Given the description of an element on the screen output the (x, y) to click on. 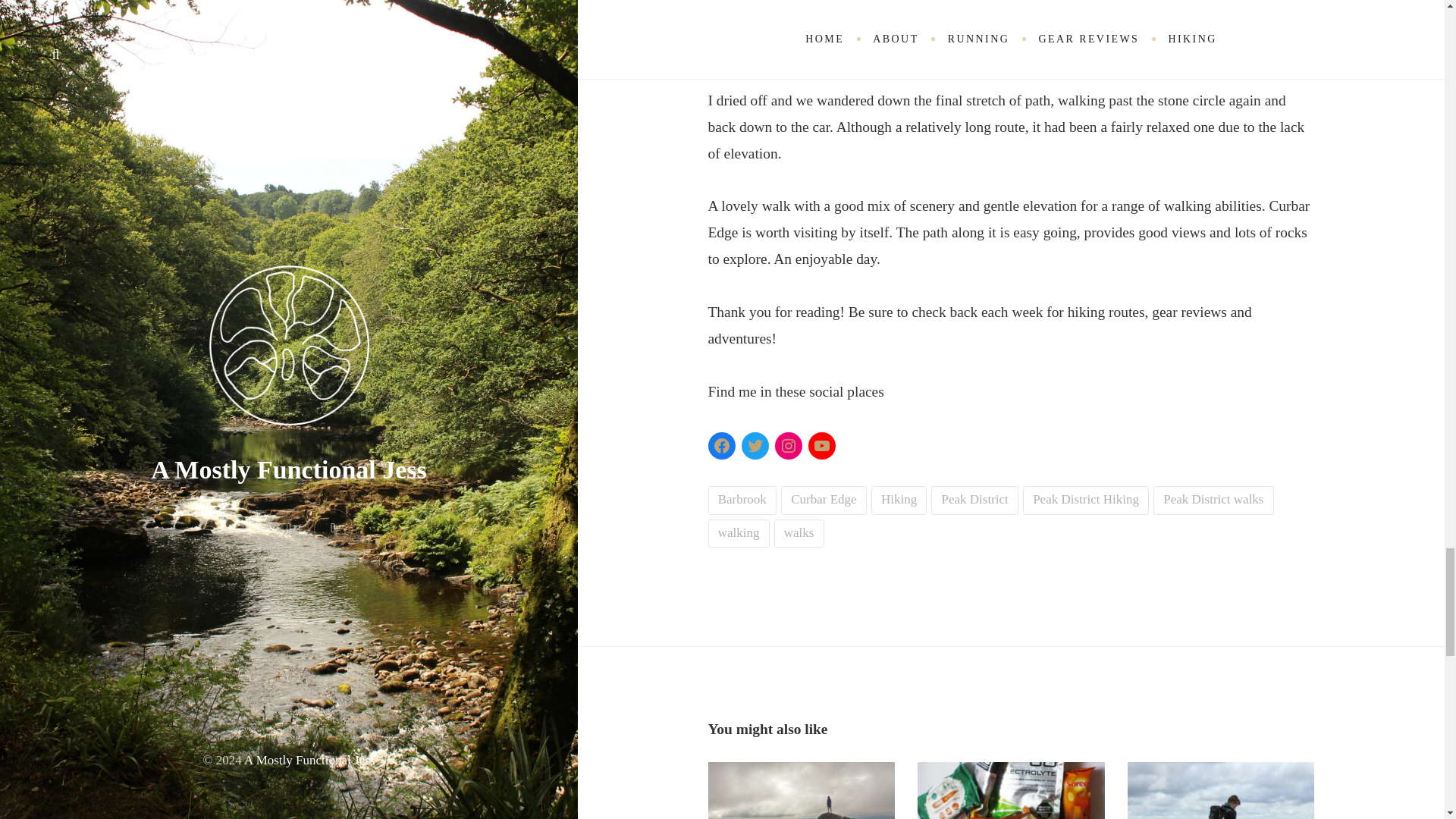
walks (799, 533)
Peak District Hiking (1085, 500)
walking (738, 533)
Barbrook (742, 500)
Peak District (974, 500)
Ultimate Direction Fastpack 25 Initial Review (1220, 790)
Curbar Edge (823, 500)
Hiking (898, 500)
Peak District walks (1212, 500)
